Given the description of an element on the screen output the (x, y) to click on. 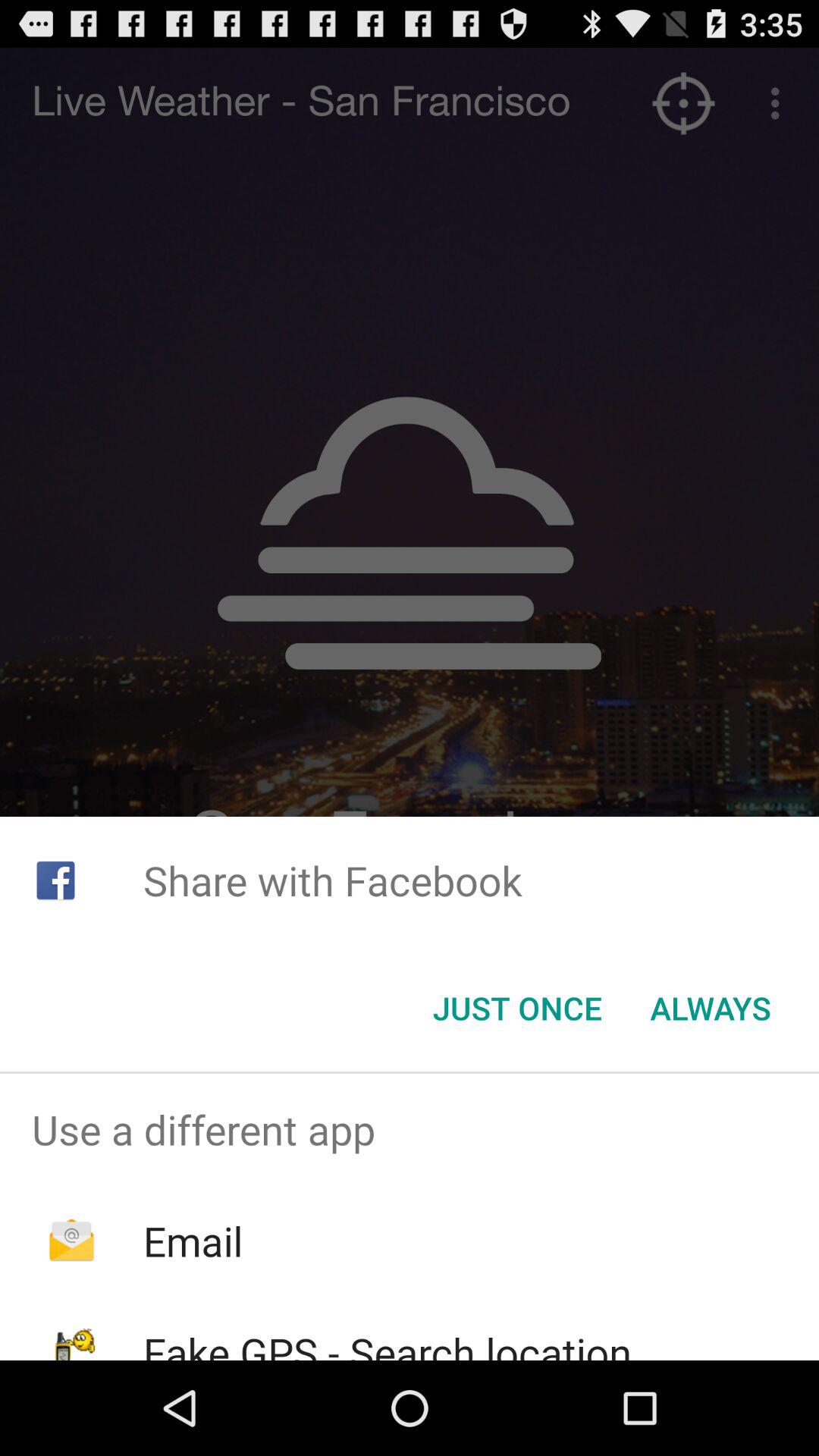
launch item above the email (409, 1129)
